Given the description of an element on the screen output the (x, y) to click on. 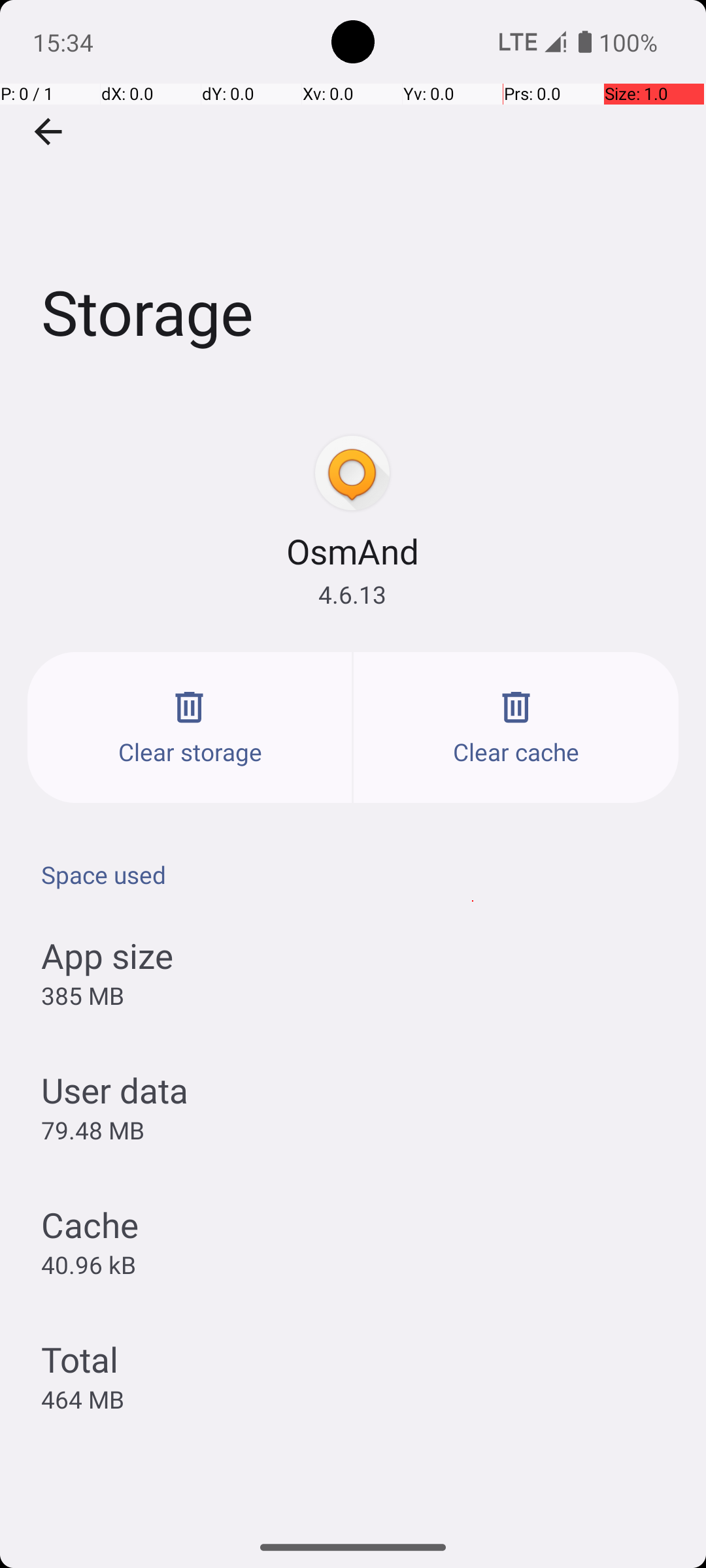
4.6.13 Element type: android.widget.TextView (352, 593)
Clear storage Element type: android.widget.Button (189, 727)
385 MB Element type: android.widget.TextView (82, 995)
79.48 MB Element type: android.widget.TextView (92, 1129)
40.96 kB Element type: android.widget.TextView (88, 1264)
464 MB Element type: android.widget.TextView (82, 1398)
